Given the description of an element on the screen output the (x, y) to click on. 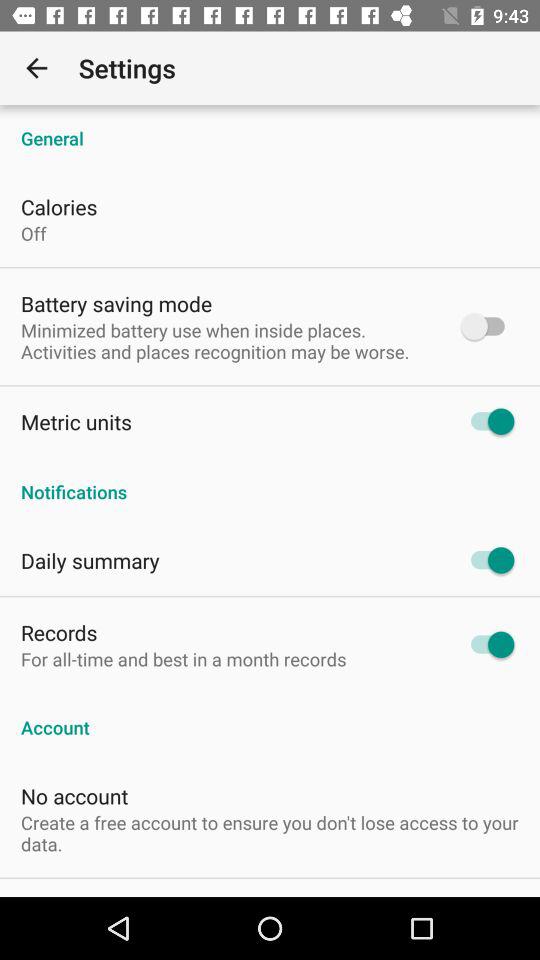
turn on the item above the calories item (270, 127)
